Given the description of an element on the screen output the (x, y) to click on. 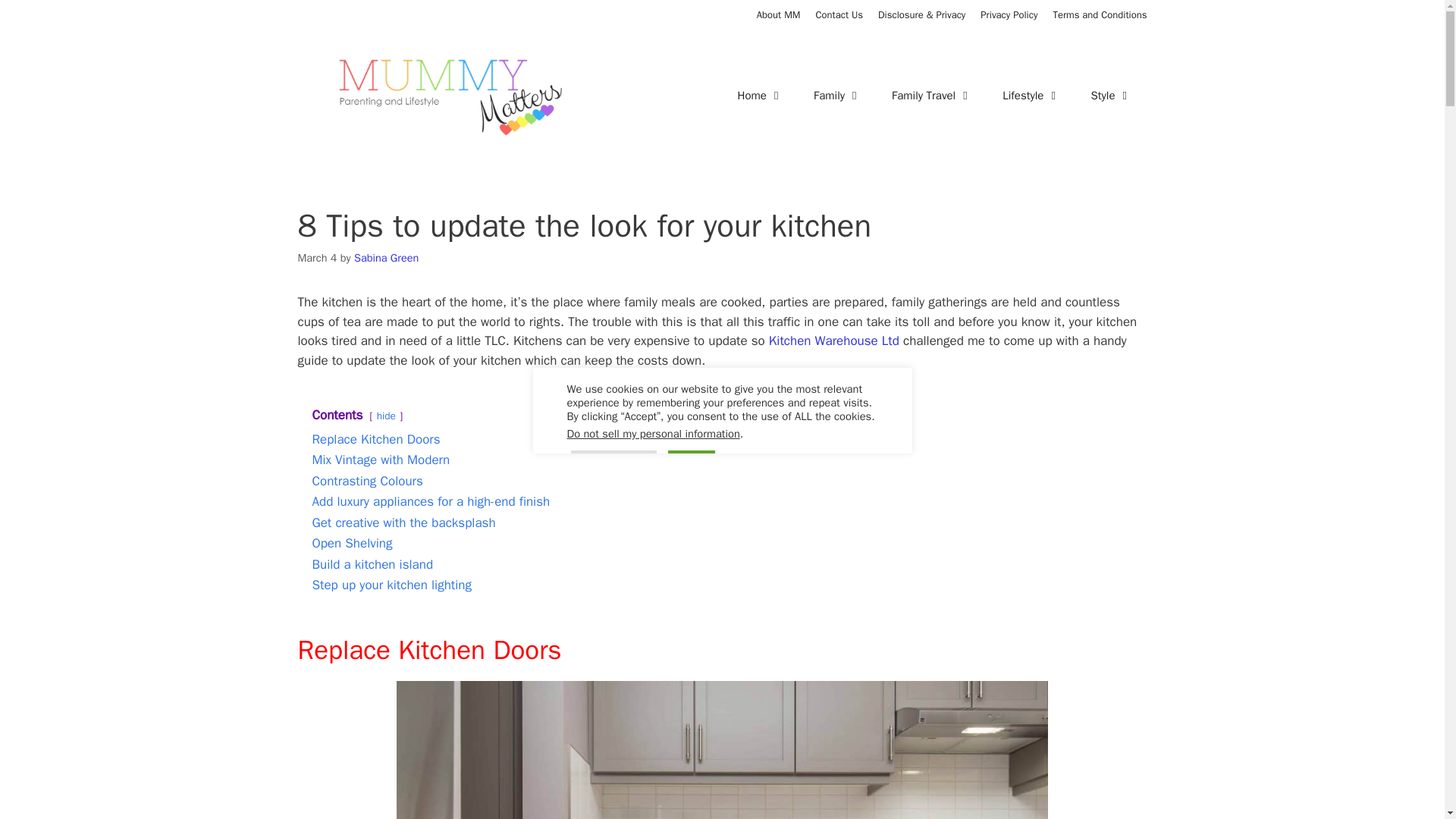
Home (759, 94)
Work with Mummy Matters (839, 14)
Terms and Conditions (1099, 14)
Who is Mummy Matters? (778, 14)
View all posts by Sabina Green (386, 257)
Family (836, 94)
Replacement Kitchen doors (722, 749)
About MM (778, 14)
Privacy Policy (1007, 14)
Contact Us (839, 14)
